Given the description of an element on the screen output the (x, y) to click on. 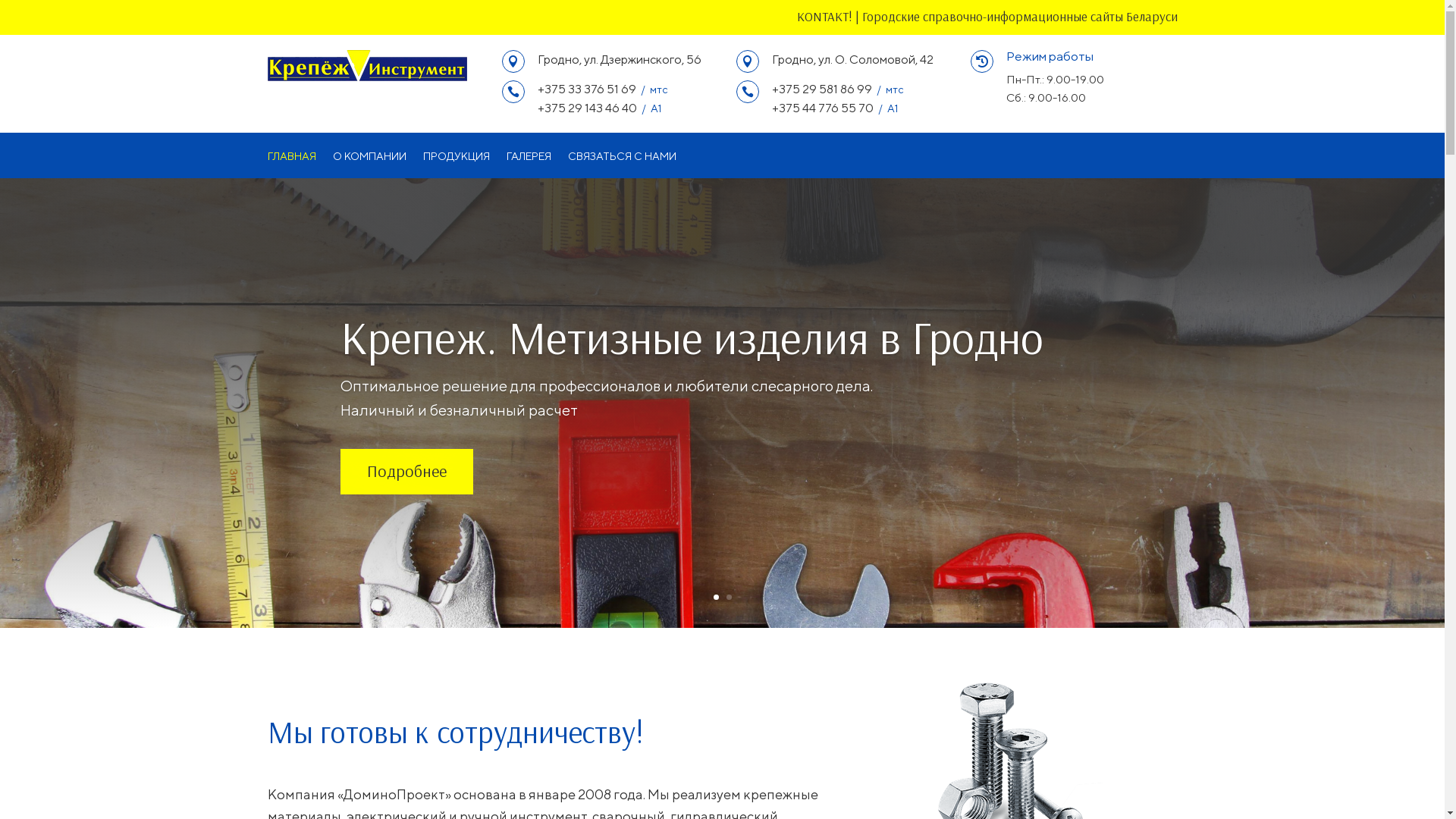
+375 29 581 86 99 Element type: text (821, 88)
logo3 Element type: hover (366, 65)
+375 44 776 55 70 Element type: text (822, 107)
2 Element type: text (728, 596)
+375 33 376 51 69 Element type: text (585, 88)
1 Element type: text (715, 596)
+375 29 143 46 40 Element type: text (586, 107)
